Given the description of an element on the screen output the (x, y) to click on. 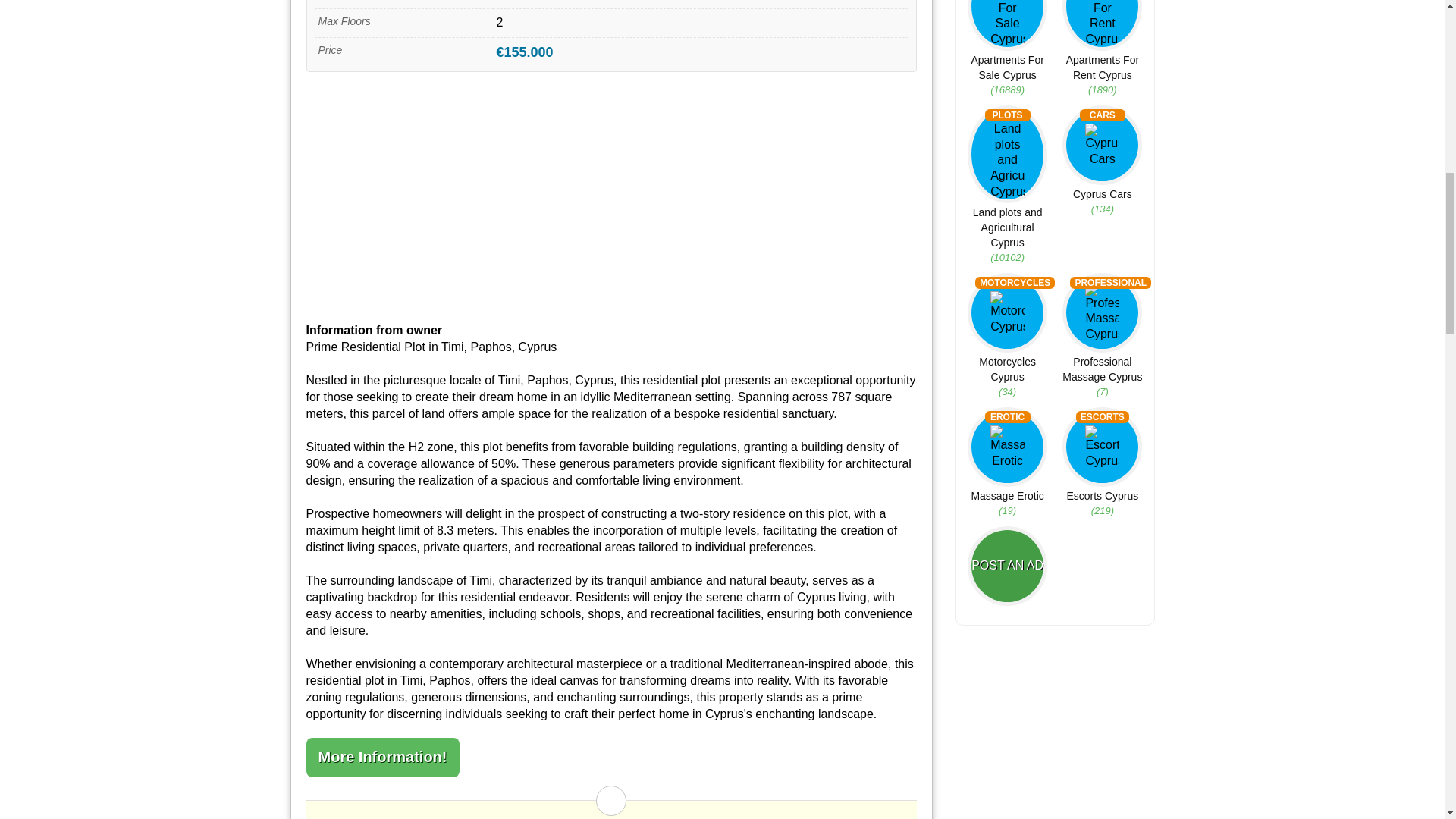
More Information! (382, 757)
